Given the description of an element on the screen output the (x, y) to click on. 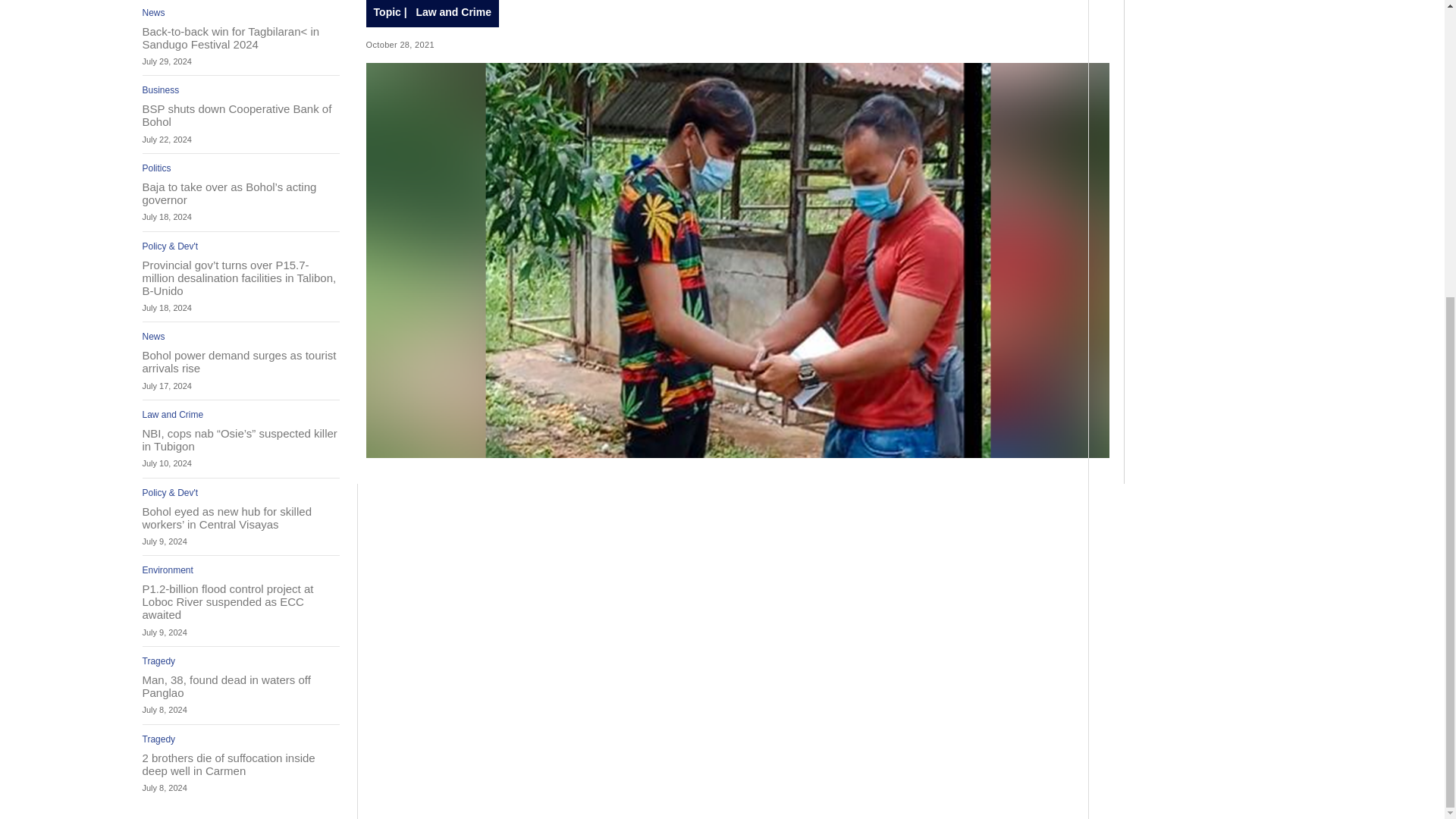
News (153, 12)
Politics (156, 167)
News (153, 336)
BSP shuts down Cooperative Bank of Bohol (240, 114)
Bohol power demand surges as tourist arrivals rise (240, 361)
Business (160, 90)
Law and Crime (172, 414)
